Given the description of an element on the screen output the (x, y) to click on. 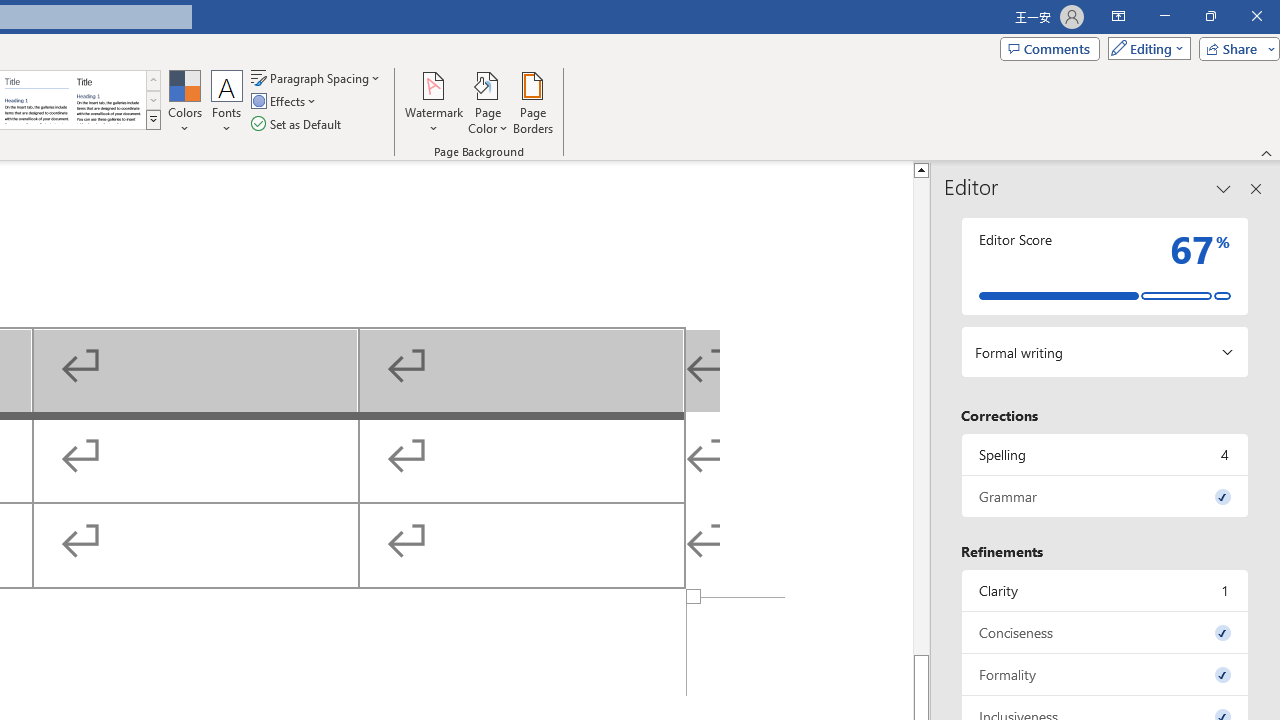
Effects (285, 101)
Clarity, 1 issue. Press space or enter to review items. (1105, 590)
Style Set (153, 120)
Paragraph Spacing (317, 78)
Page Color (487, 102)
Colors (184, 102)
Editor Score 67% (1105, 266)
Page Borders... (532, 102)
